Given the description of an element on the screen output the (x, y) to click on. 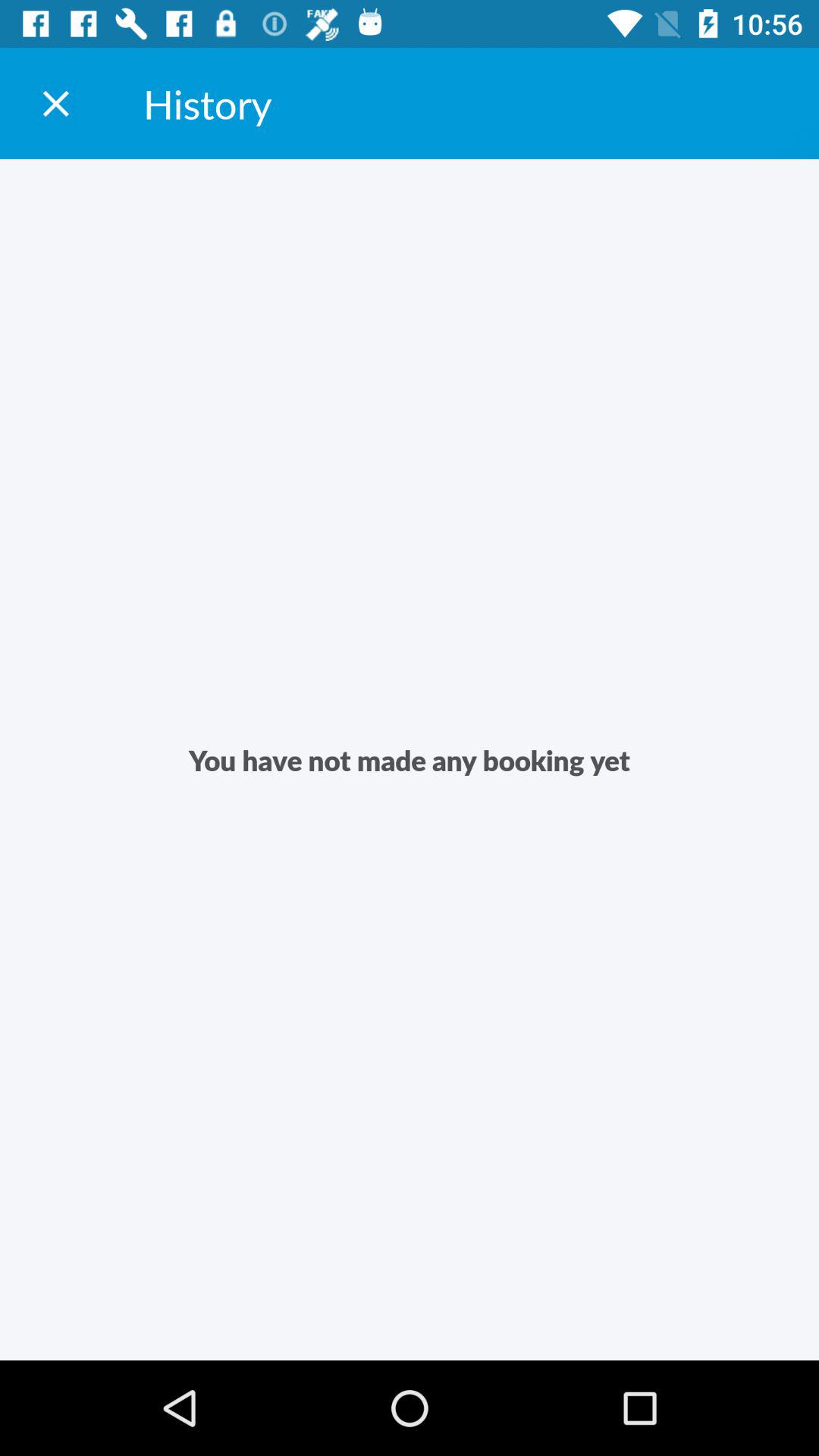
exit page (55, 103)
